Given the description of an element on the screen output the (x, y) to click on. 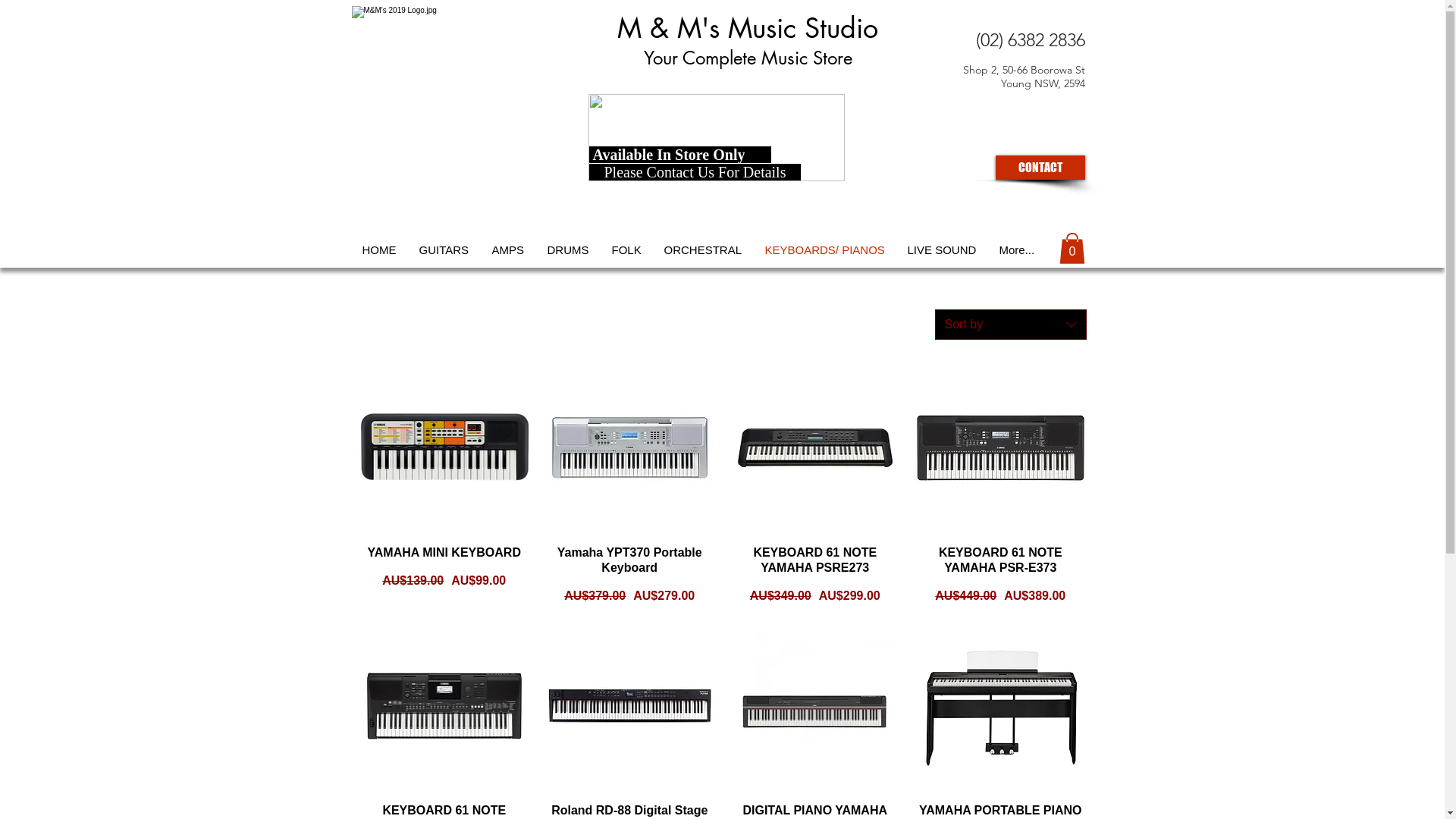
KEYBOARDS/ PIANOS Element type: text (824, 250)
AMPS Element type: text (508, 250)
DRUMS Element type: text (567, 250)
ORCHESTRAL Element type: text (702, 250)
0 Element type: text (1071, 247)
GUITARS Element type: text (443, 250)
LIVE SOUND Element type: text (942, 250)
Sort by Element type: text (1009, 324)
HOME Element type: text (378, 250)
Afterpay_Logo_Mint-on-black-scaled.jpg Element type: hover (716, 137)
FOLK Element type: text (626, 250)
CONTACT Element type: text (1039, 167)
